Given the description of an element on the screen output the (x, y) to click on. 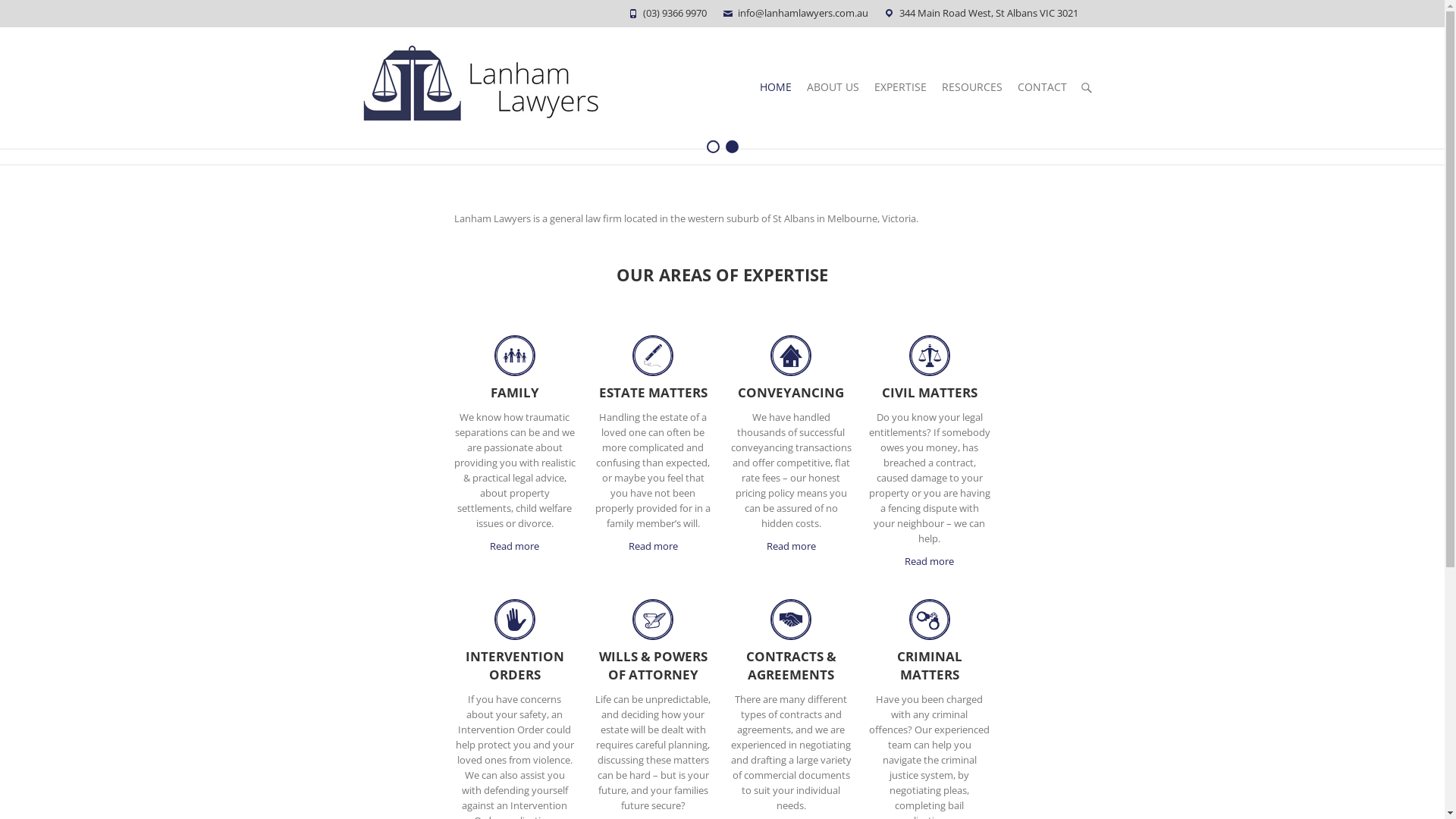
Read more Element type: text (653, 545)
Read more Element type: text (514, 545)
1 Element type: text (712, 146)
RESOURCES Element type: text (971, 87)
HOME Element type: text (775, 87)
CONTACT Element type: text (1041, 87)
ABOUT US Element type: text (832, 87)
(03) 9366 9970 Element type: text (674, 12)
Read more Element type: text (791, 545)
EXPERTISE Element type: text (899, 87)
2 Element type: text (730, 146)
Read more Element type: text (929, 560)
Lanham Lawyers Element type: hover (480, 87)
info@lanhamlawyers.com.au Element type: text (802, 12)
